Given the description of an element on the screen output the (x, y) to click on. 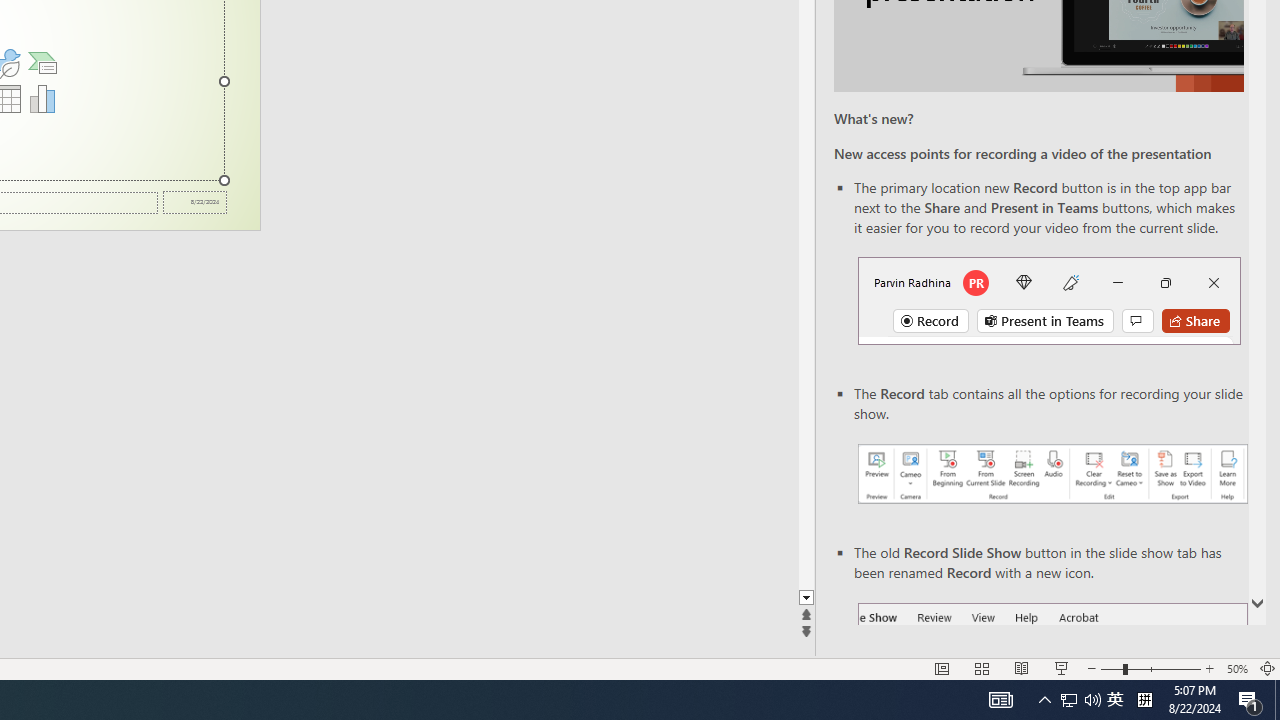
Insert a SmartArt Graphic (42, 62)
Zoom 50% (1236, 668)
Date (194, 201)
Record button in top bar (1049, 300)
Insert Chart (42, 98)
